Given the description of an element on the screen output the (x, y) to click on. 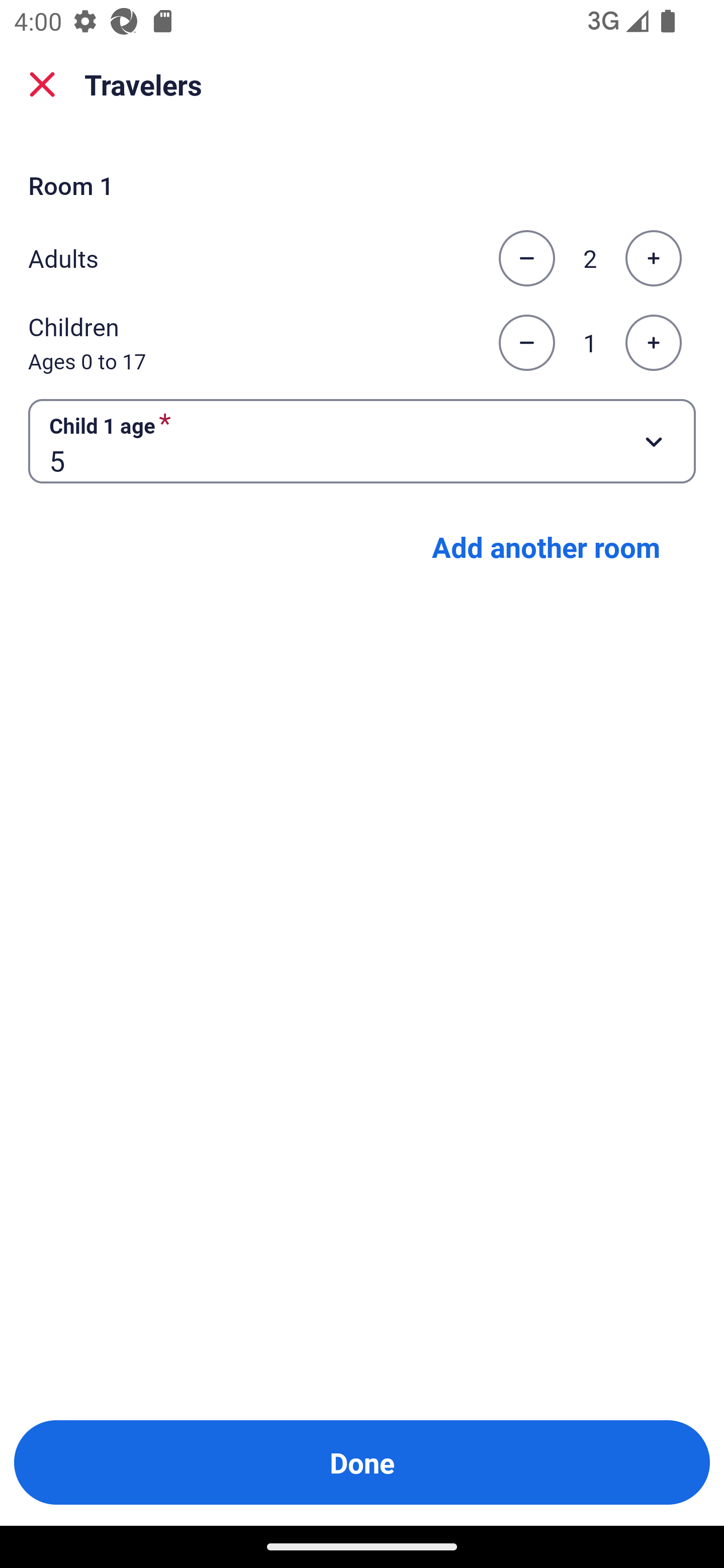
close (42, 84)
Decrease the number of adults (526, 258)
Increase the number of adults (653, 258)
Decrease the number of children (526, 343)
Increase the number of children (653, 343)
Child 1 age required Button 5 (361, 440)
Add another room (545, 546)
Done (361, 1462)
